Given the description of an element on the screen output the (x, y) to click on. 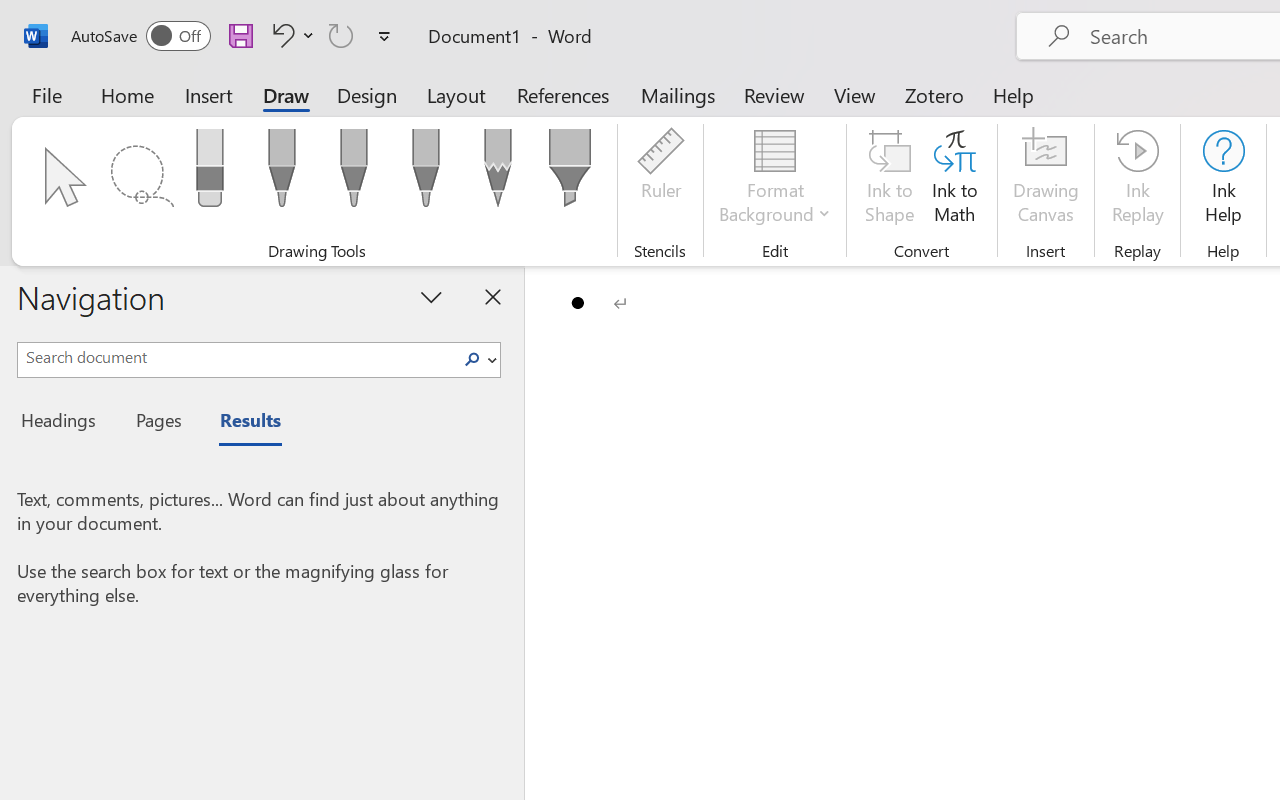
Can't Repeat (341, 35)
Pen: Black, 0.5 mm (281, 173)
Search document (236, 357)
Highlighter: Yellow, 6 mm (569, 173)
Pencil: Gray, 1 mm (497, 173)
